Given the description of an element on the screen output the (x, y) to click on. 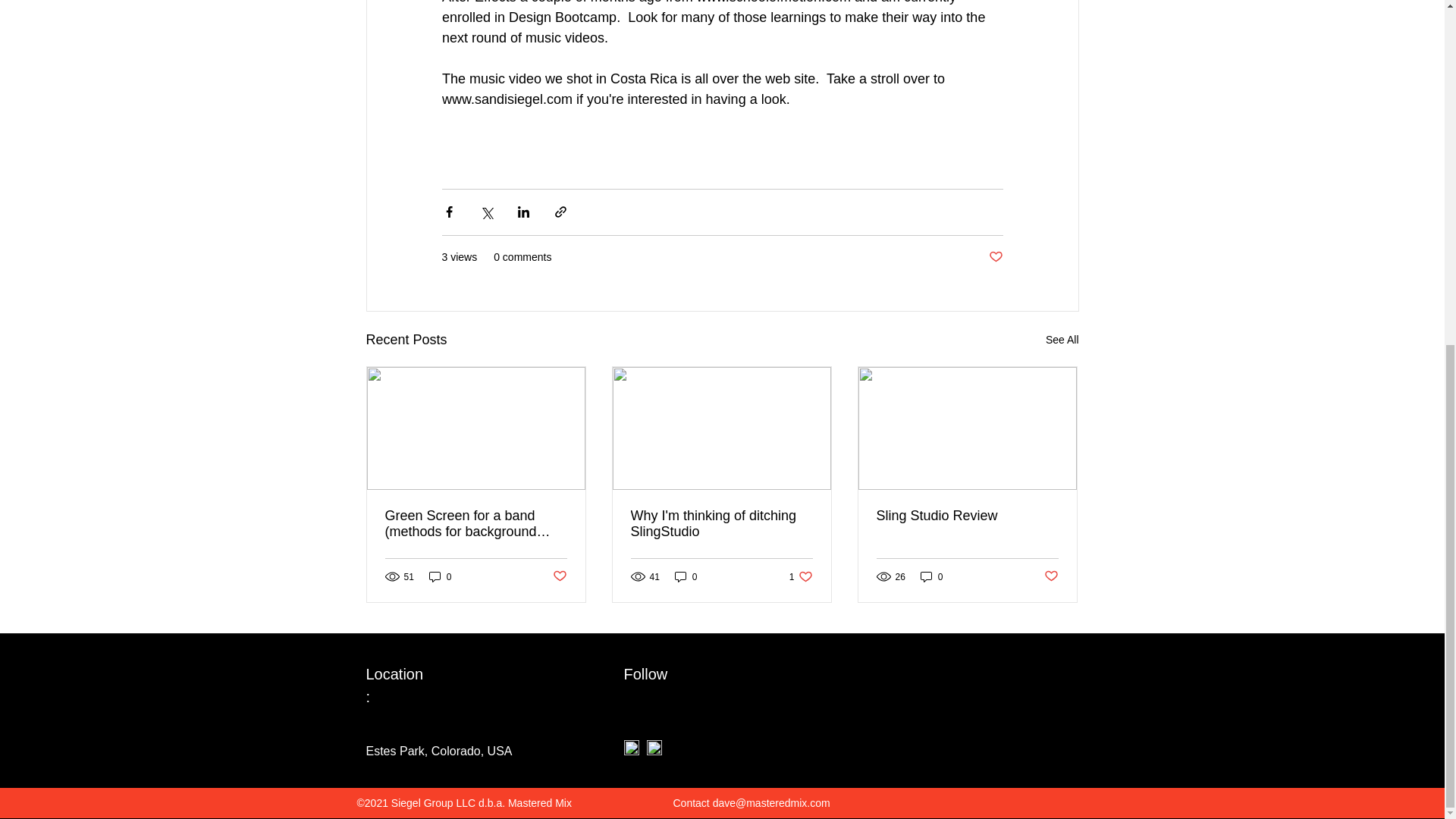
Sling Studio Review (967, 515)
Post not marked as liked (800, 576)
See All (995, 257)
0 (1061, 340)
Post not marked as liked (440, 576)
Why I'm thinking of ditching SlingStudio (558, 576)
0 (721, 523)
Post not marked as liked (685, 576)
0 (1050, 576)
